Given the description of an element on the screen output the (x, y) to click on. 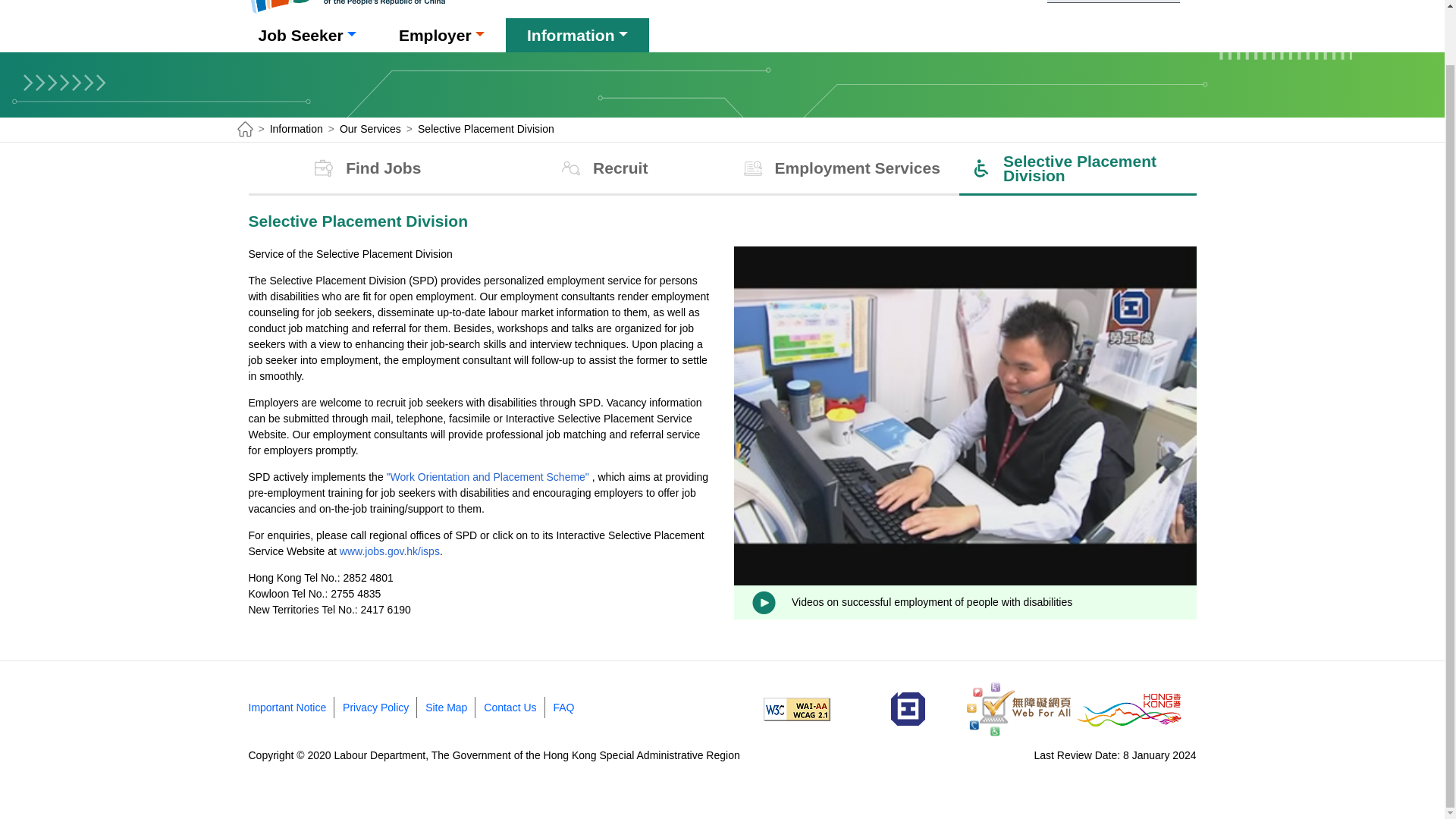
Employment Services (840, 168)
Site Search Display in new window (1196, 0)
Recruit (603, 168)
Find Jobs (367, 168)
Selective Placement Division (1077, 168)
Job Seeker (306, 35)
